Given the description of an element on the screen output the (x, y) to click on. 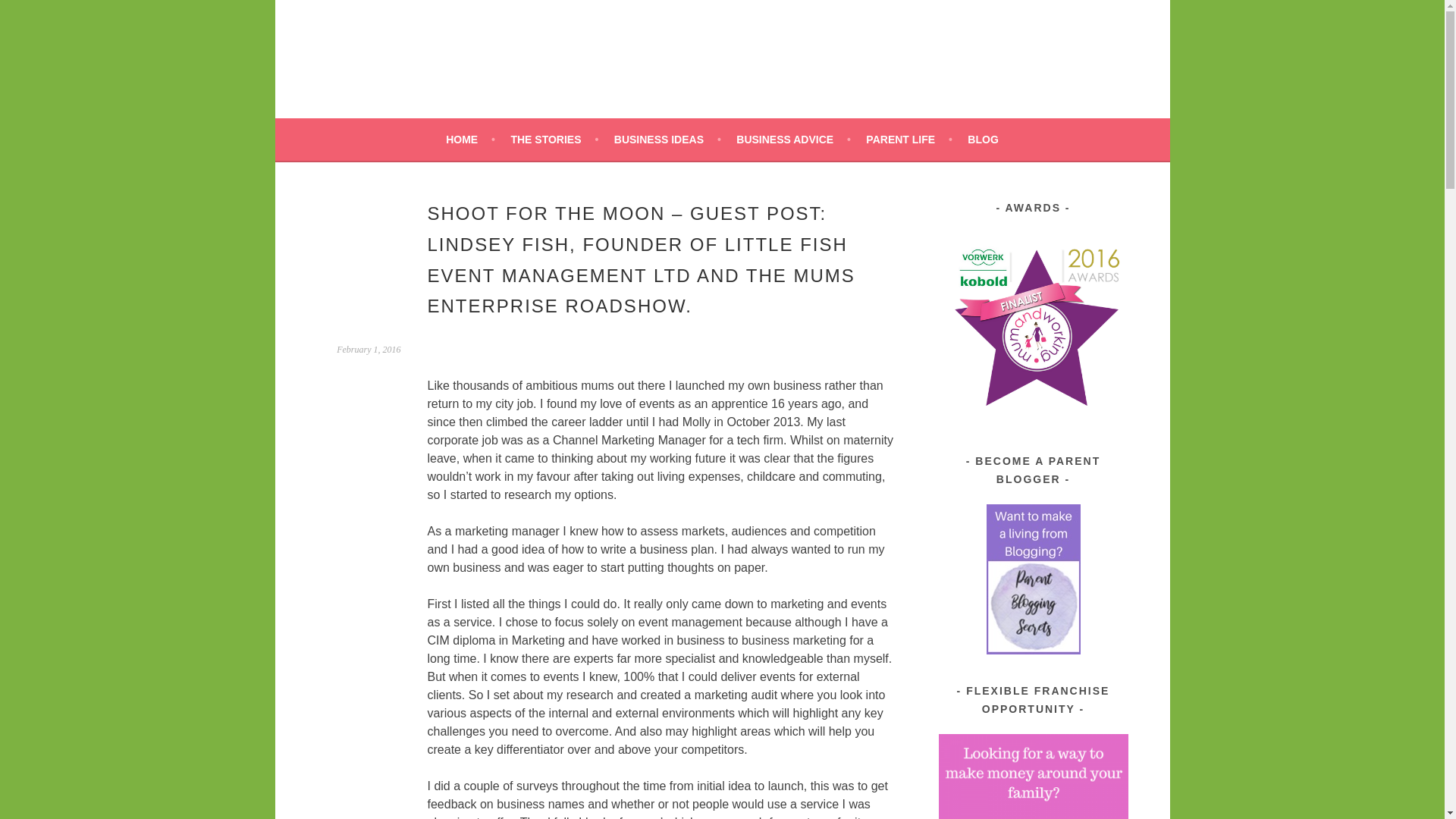
BUSINESS FOR MUMS (475, 53)
HOME (470, 139)
THE STORIES (554, 139)
BUSINESS IDEAS (667, 139)
PARENT LIFE (909, 139)
Business For Mums (475, 53)
February 1, 2016 (368, 348)
Flexible Franchise opportunity (1033, 776)
BUSINESS ADVICE (793, 139)
BLOG (982, 139)
